Given the description of an element on the screen output the (x, y) to click on. 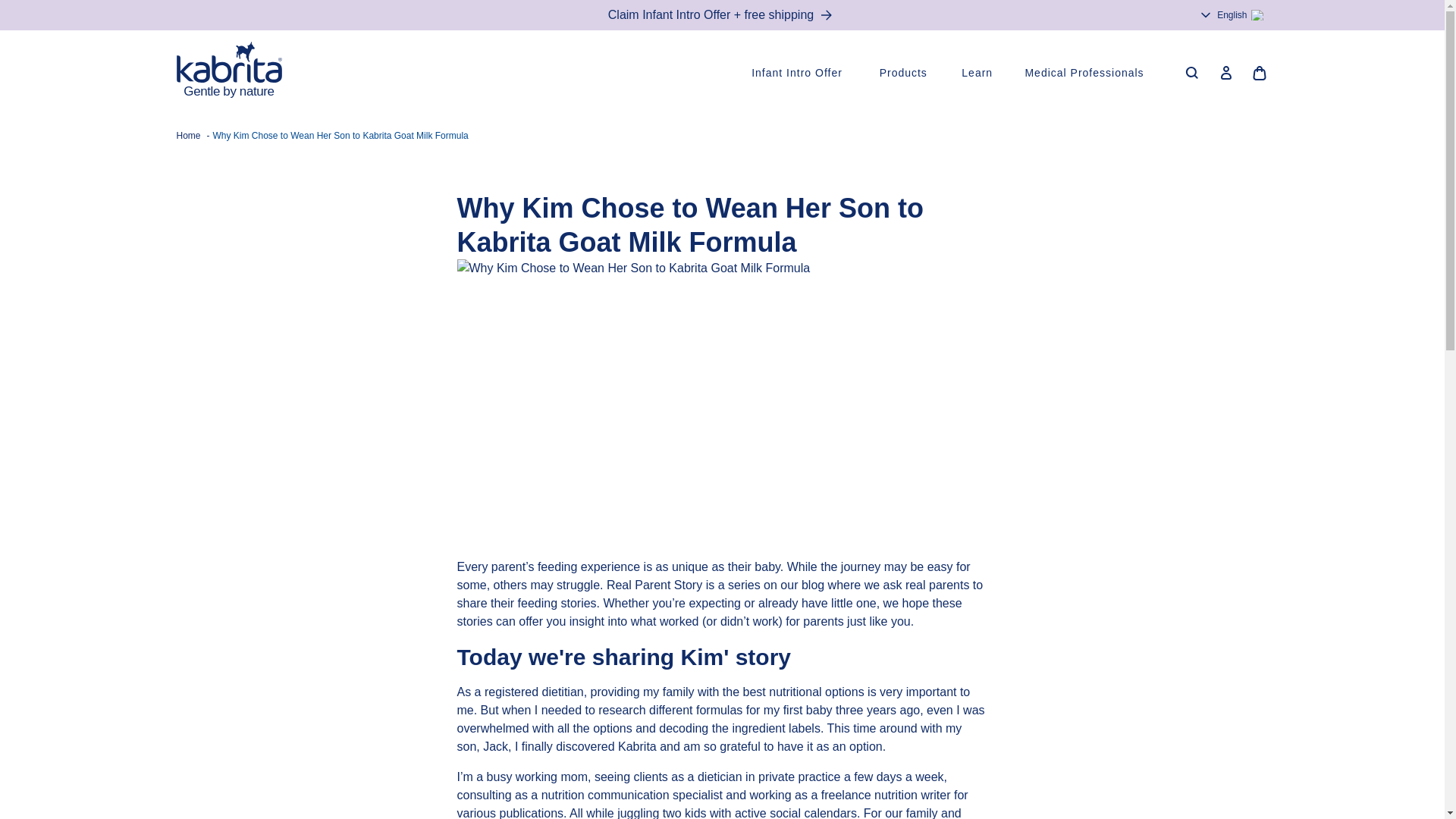
Goat Milk Formula - Kabrita USA (228, 73)
Infant Intro Offer (799, 73)
Products (905, 73)
Infant Intro Offer (799, 73)
Gentle by nature (228, 73)
Medical Professionals (1088, 73)
Open cart drawer (1258, 73)
SKIP TO CONTENT (15, 11)
Medical Professionals (1088, 73)
Products (905, 73)
Open cart drawer (1258, 73)
